Given the description of an element on the screen output the (x, y) to click on. 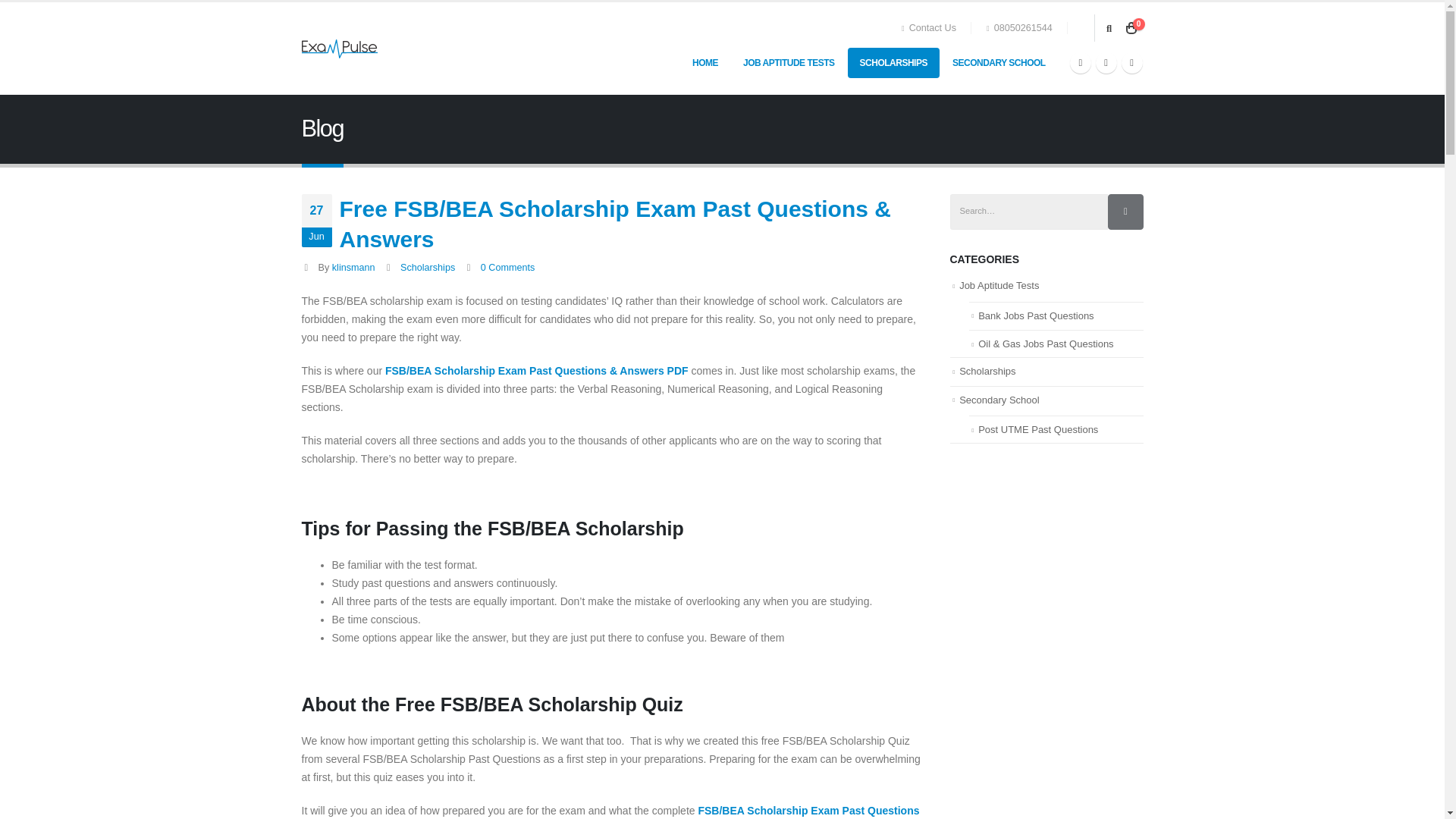
0 Comments (507, 267)
LinkedIn (1131, 62)
Scholarships (427, 267)
HOME (704, 62)
Facebook (1080, 62)
Past Questions and Answers PDF (610, 811)
JOB APTITUDE TESTS (788, 62)
klinsmann (353, 267)
Twitter (1106, 62)
SECONDARY SCHOOL (999, 62)
SCHOLARSHIPS (893, 62)
Posts by klinsmann (353, 267)
Contact Us (932, 27)
0 Comments (507, 267)
